Given the description of an element on the screen output the (x, y) to click on. 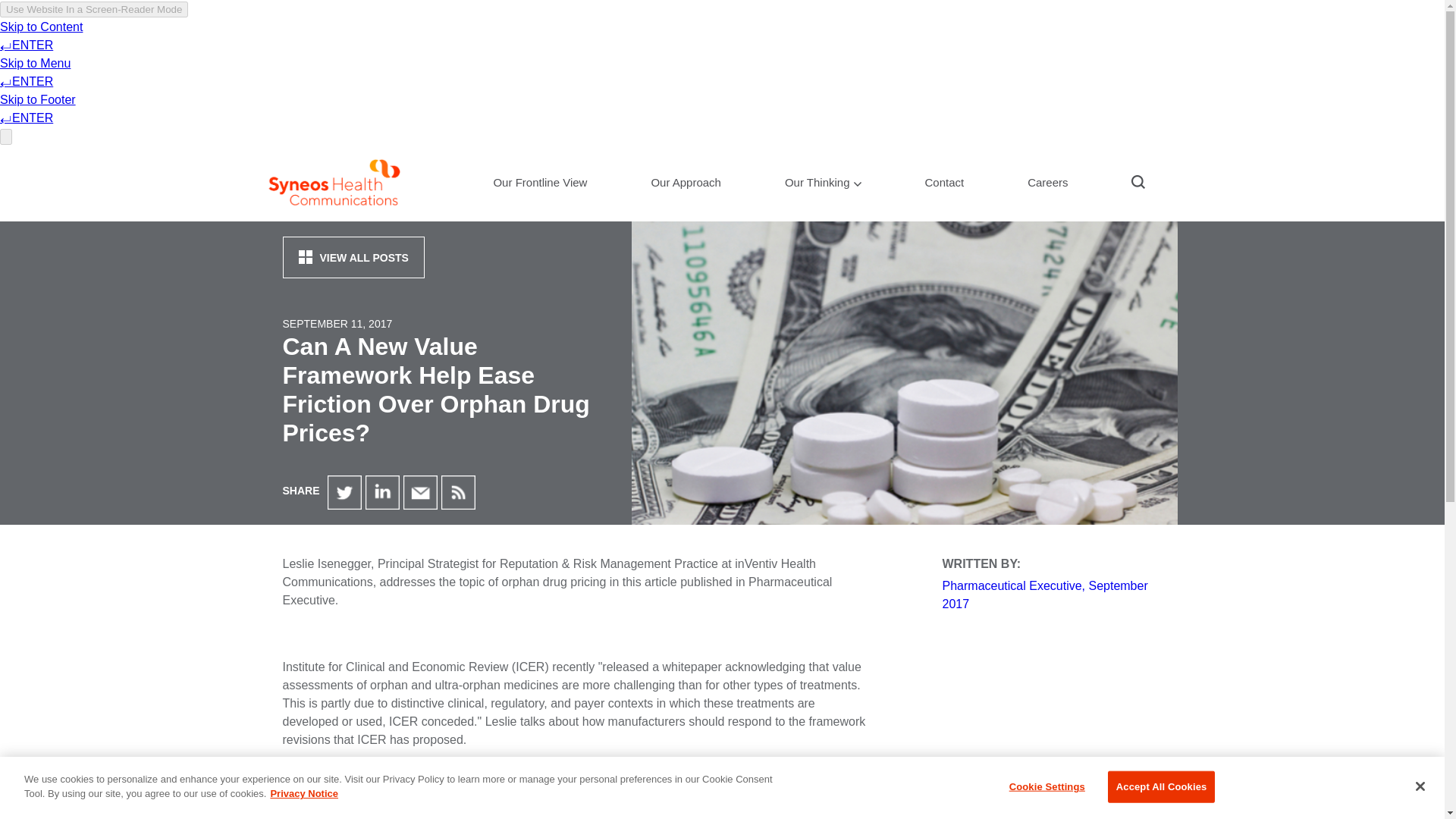
VIEW ALL POSTS (352, 257)
Our Thinking (823, 189)
Contact (943, 189)
Pharmaceutical Executive, September 2017 (1044, 594)
Our Frontline View (539, 189)
Careers (1047, 189)
Our Approach (686, 189)
